Given the description of an element on the screen output the (x, y) to click on. 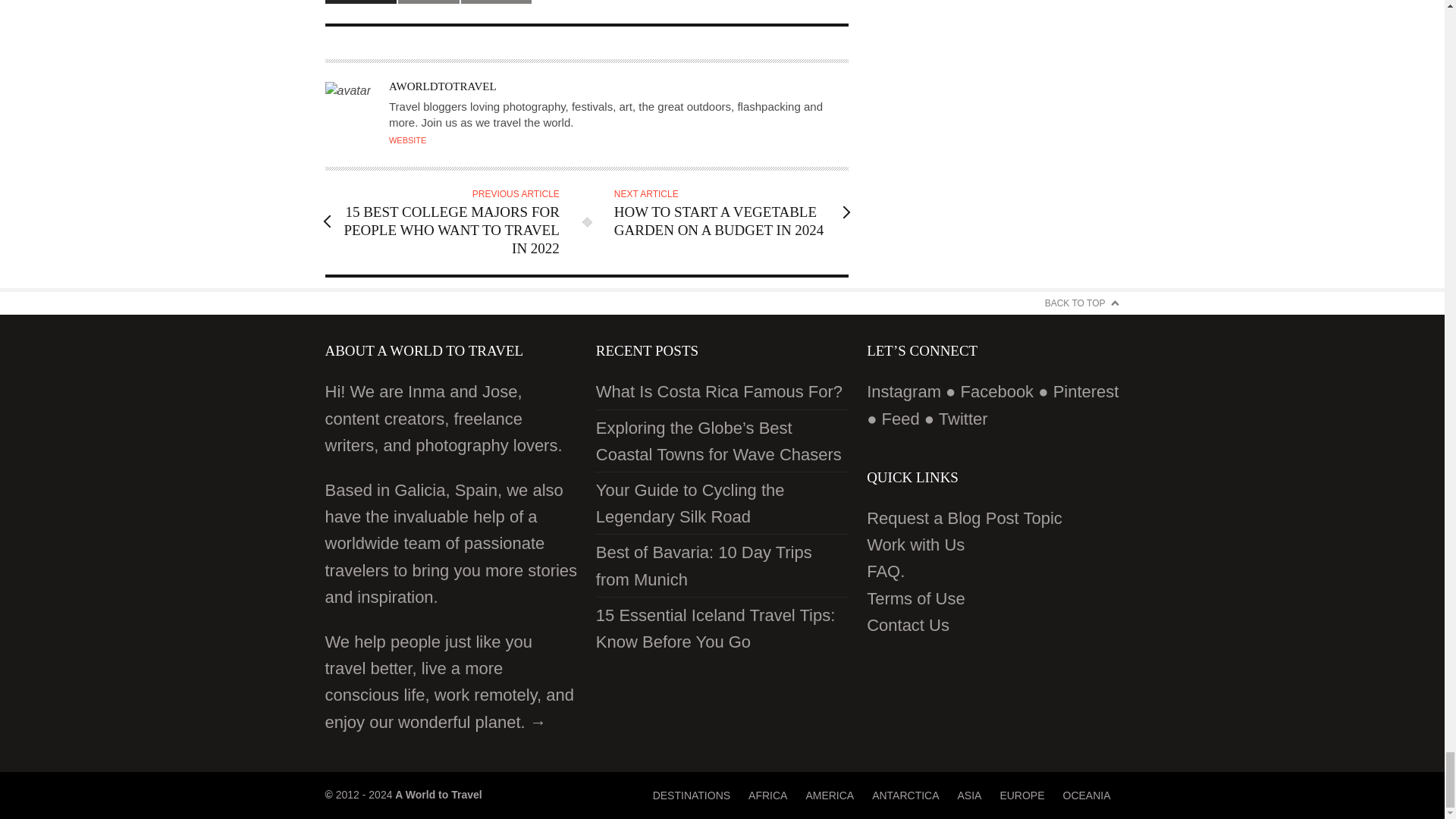
Posts by aworldtotravel (442, 86)
View all posts in LIFESTYLE (428, 2)
View all posts in TRAVEL TIPS (496, 2)
